Given the description of an element on the screen output the (x, y) to click on. 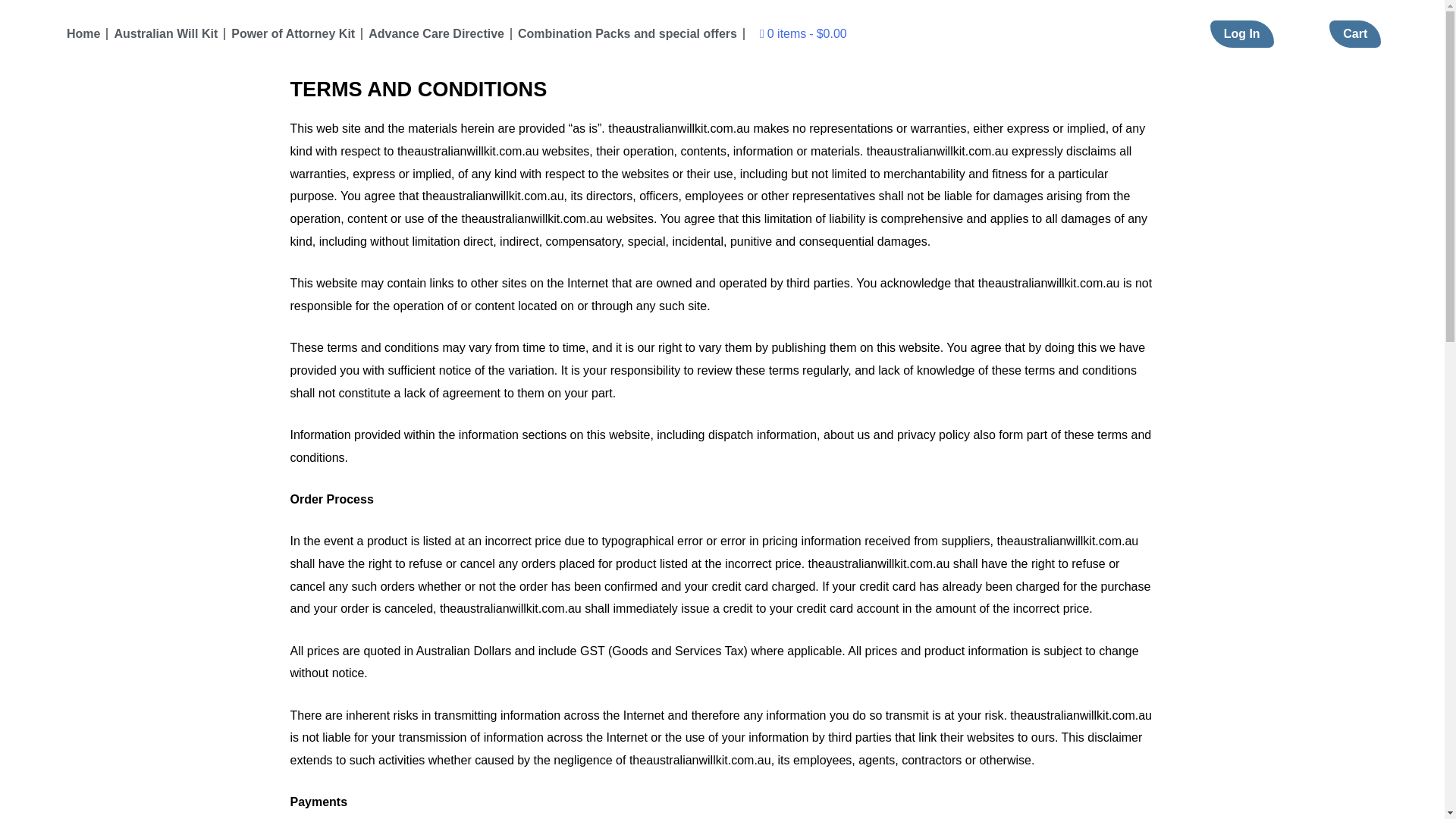
Australian Will Kit (165, 33)
Combination Packs and special offers (627, 33)
Cart (1354, 33)
Home (83, 33)
Power of Attorney Kit (293, 33)
Advance Care Directive (436, 33)
Start shopping (802, 33)
Log In (1241, 33)
